Given the description of an element on the screen output the (x, y) to click on. 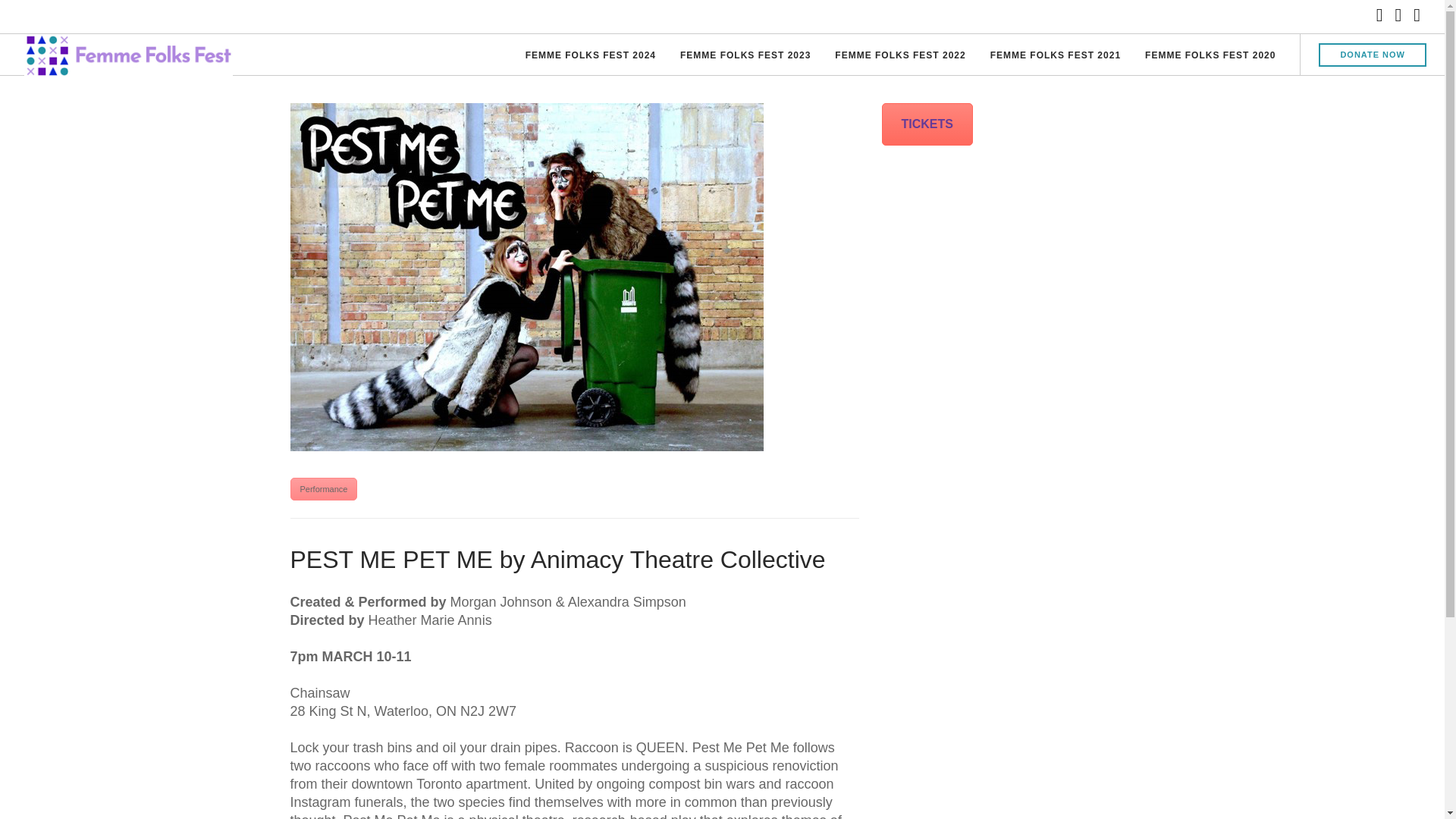
FEMME FOLKS FEST 2021 (1055, 56)
FEMME FOLKS FEST 2020 (1209, 56)
FEMME FOLKS FEST 2022 (899, 56)
FEMME FOLKS FEST 2023 (744, 56)
DONATE NOW (1372, 54)
Performance (322, 488)
FEMME FOLKS FEST 2024 (590, 56)
TICKETS (926, 124)
